Given the description of an element on the screen output the (x, y) to click on. 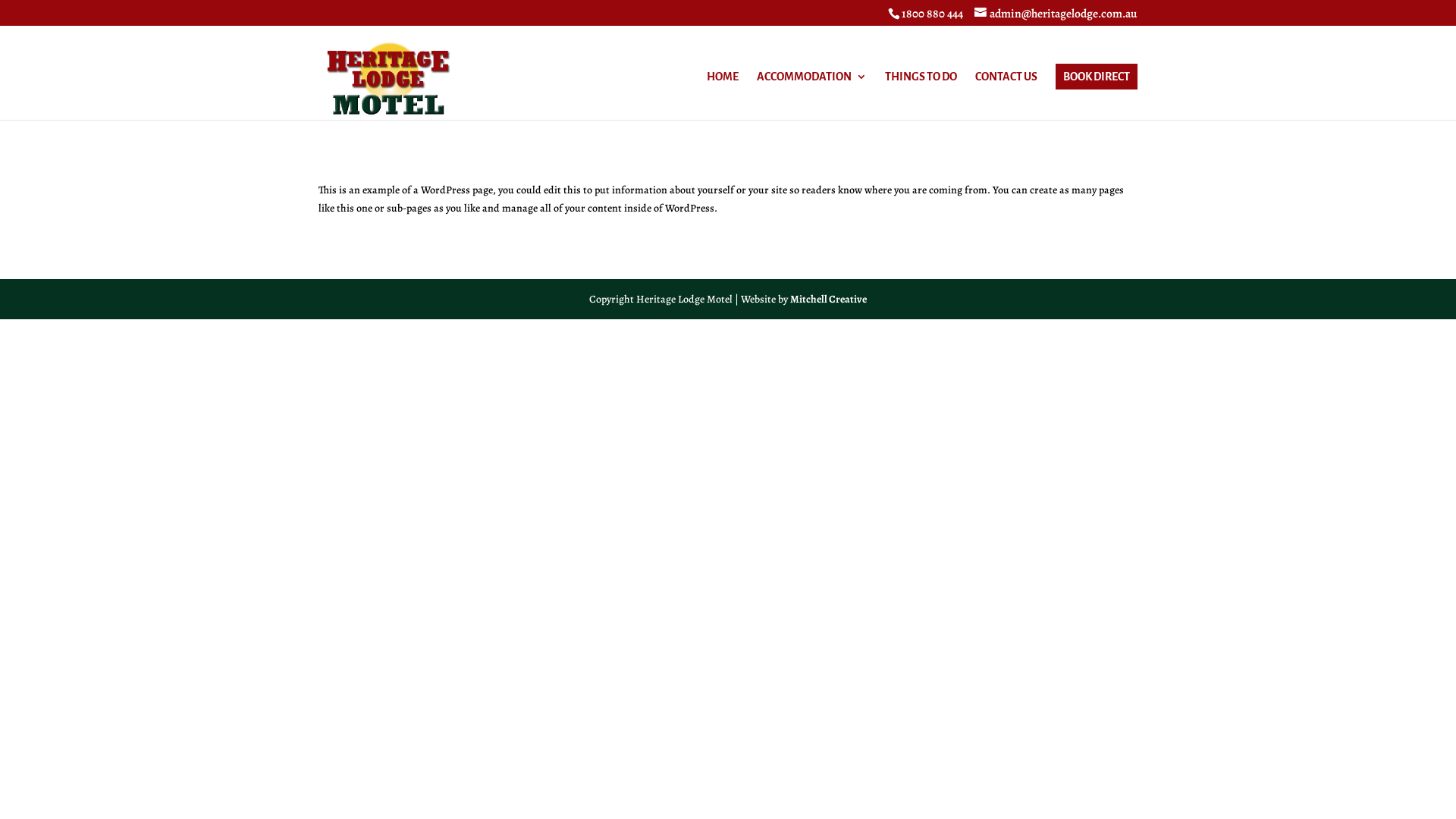
Mitchell Creative Element type: text (828, 298)
admin@heritagelodge.com.au Element type: text (1055, 14)
THINGS TO DO Element type: text (920, 95)
BOOK DIRECT Element type: text (1096, 76)
1800 880 444 Element type: text (932, 13)
ACCOMMODATION Element type: text (811, 95)
HOME Element type: text (722, 95)
CONTACT US Element type: text (1006, 95)
